Given the description of an element on the screen output the (x, y) to click on. 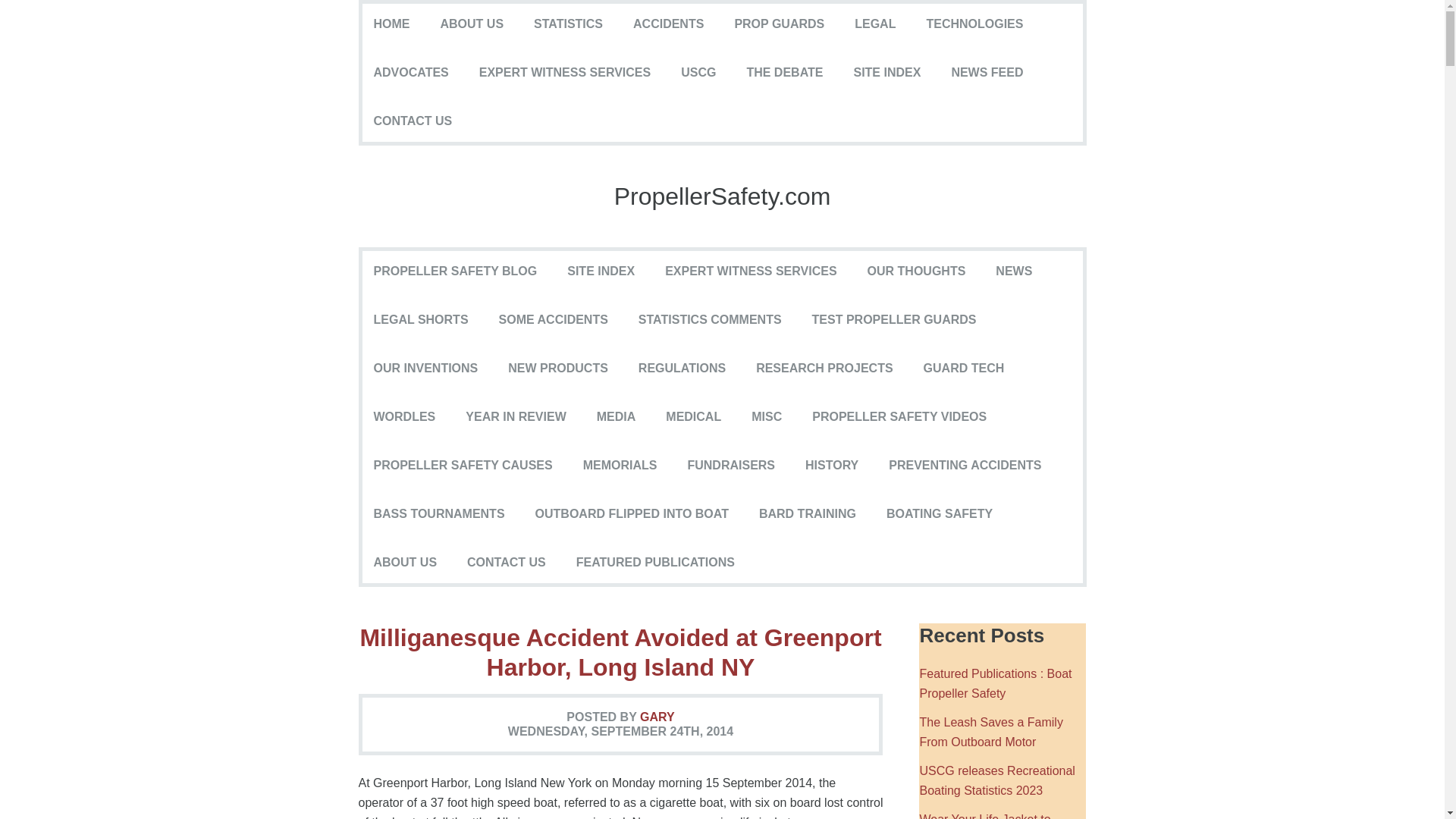
Gary (657, 716)
STATISTICS (567, 24)
ACCIDENTS (668, 24)
ABOUT US (471, 24)
HOME (391, 24)
